Given the description of an element on the screen output the (x, y) to click on. 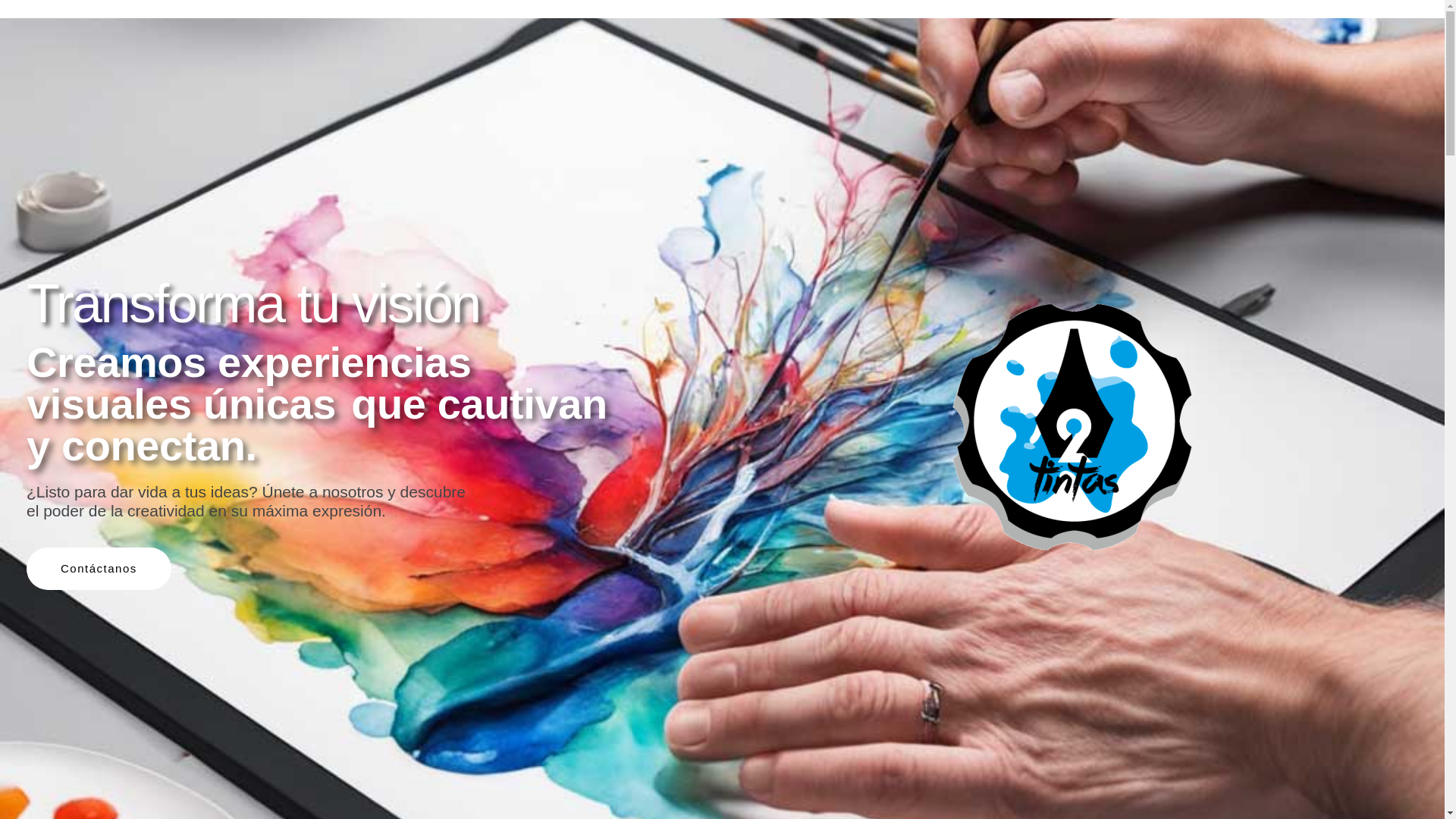
2tintas Element type: hover (1069, 427)
